Given the description of an element on the screen output the (x, y) to click on. 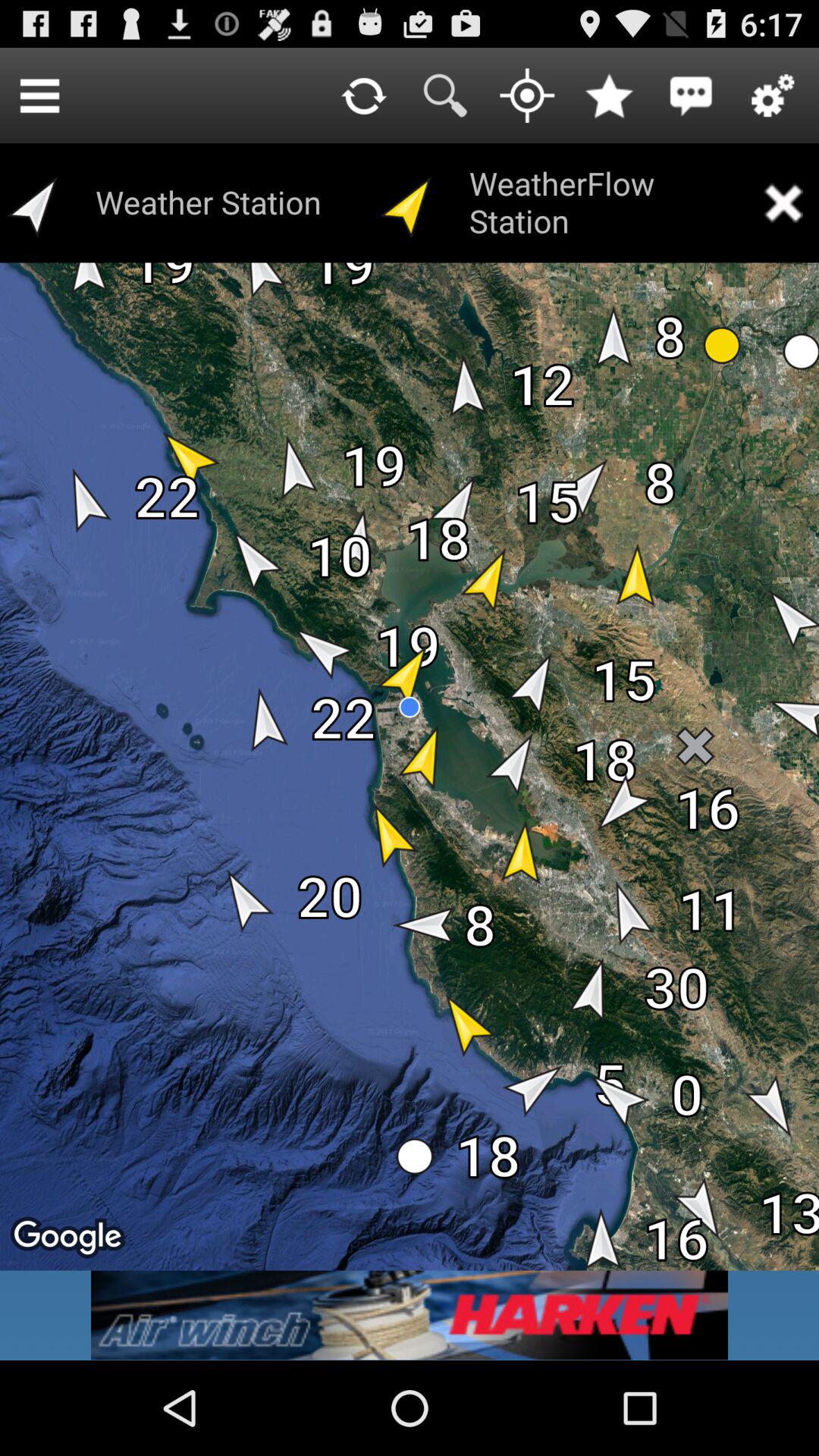
go to location (527, 95)
